Given the description of an element on the screen output the (x, y) to click on. 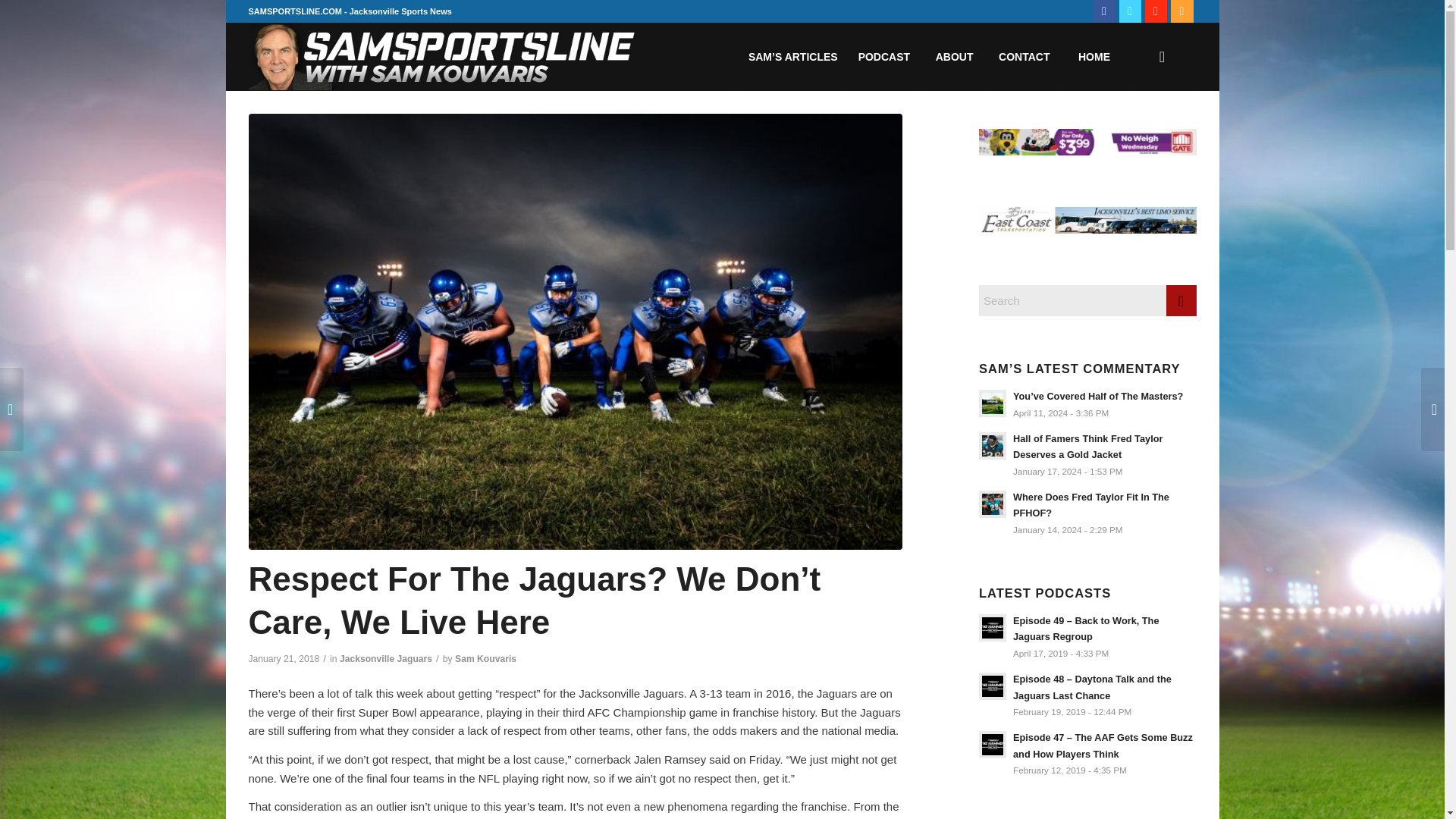
Posts by Sam Kouvaris (485, 658)
ABOUT (954, 56)
Sam Kouvaris (485, 658)
Jacksonville Jaguars (385, 658)
PODCAST (883, 56)
